Given the description of an element on the screen output the (x, y) to click on. 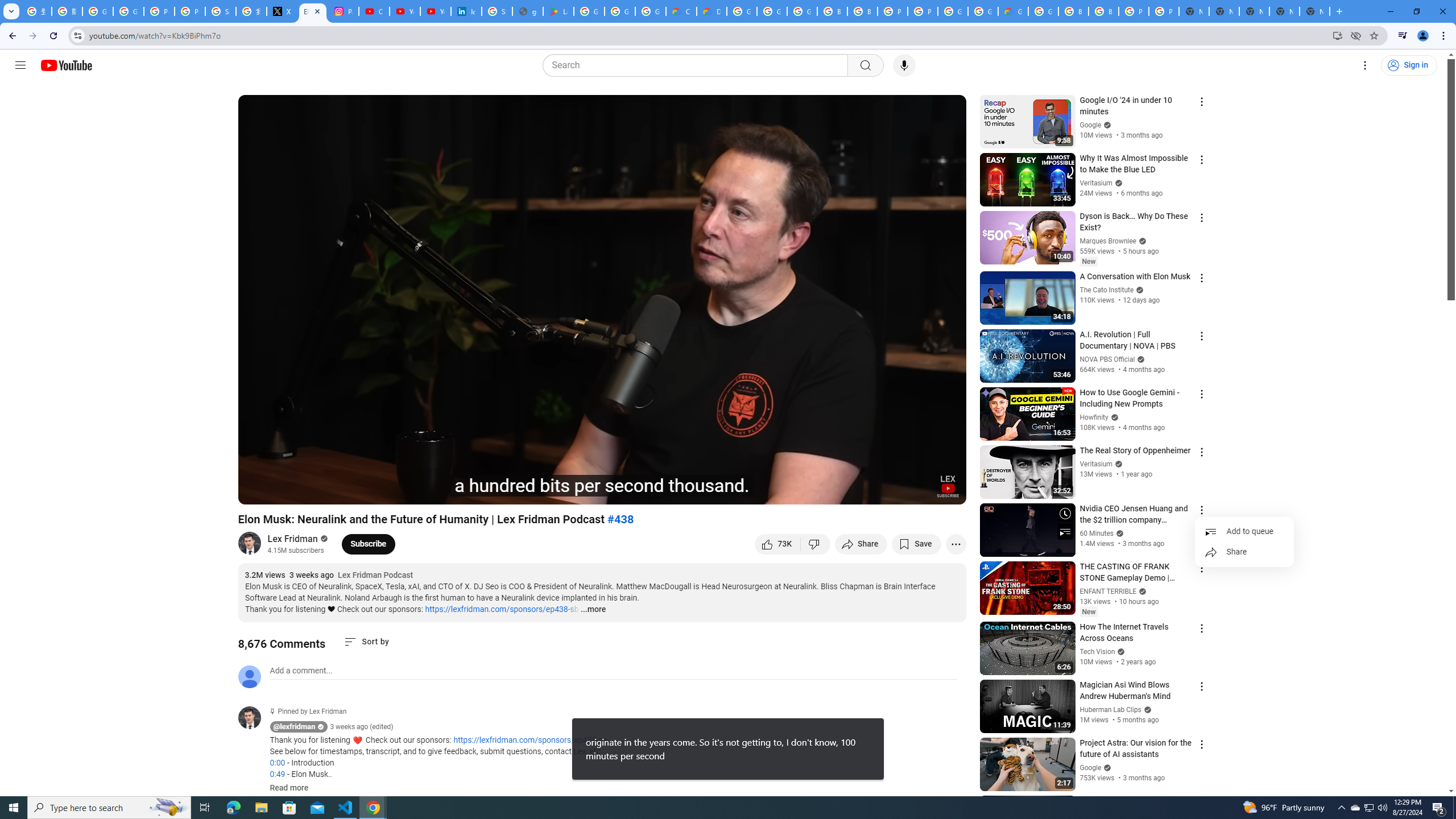
@lexfridman (294, 726)
Customer Care | Google Cloud (681, 11)
Mute (m) (312, 490)
0:49 (277, 773)
Add to queue (1243, 531)
New Tab (1314, 11)
Google Cloud Estimate Summary (1012, 11)
